Given the description of an element on the screen output the (x, y) to click on. 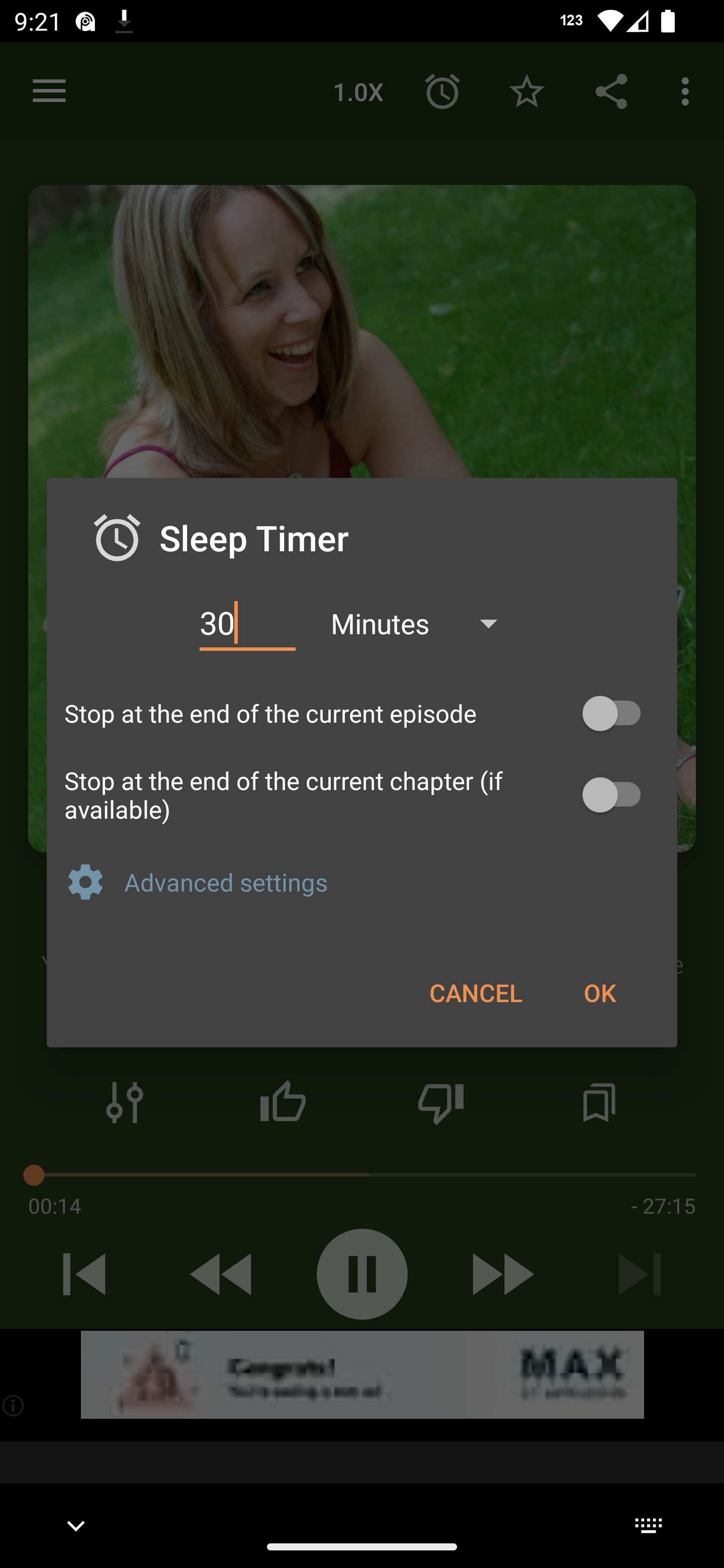
30 (247, 623)
Minutes (423, 623)
Stop at the end of the current episode (361, 712)
Advanced settings (391, 881)
CANCEL (475, 992)
OK (599, 992)
